Given the description of an element on the screen output the (x, y) to click on. 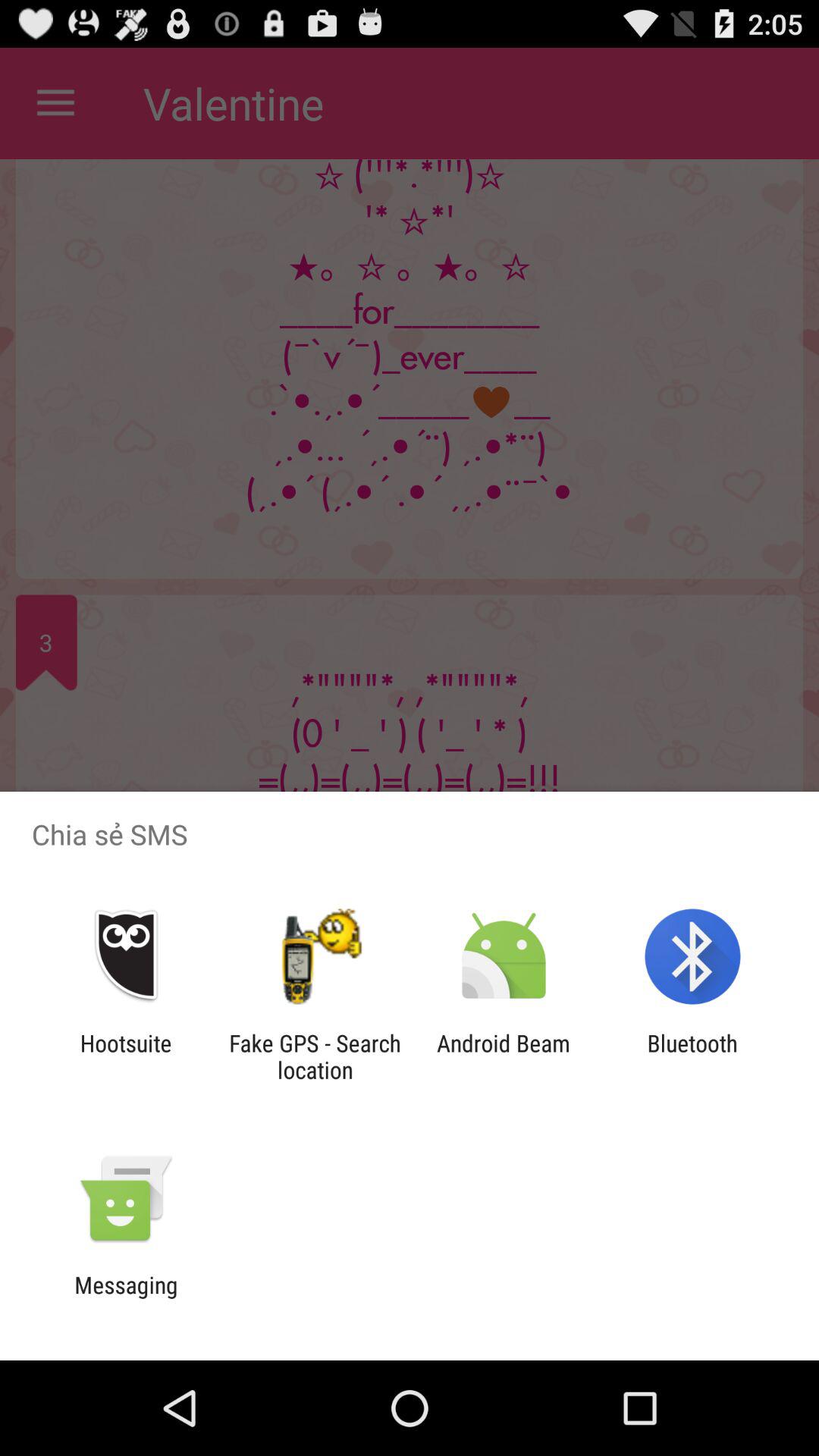
click the icon at the bottom right corner (692, 1056)
